Given the description of an element on the screen output the (x, y) to click on. 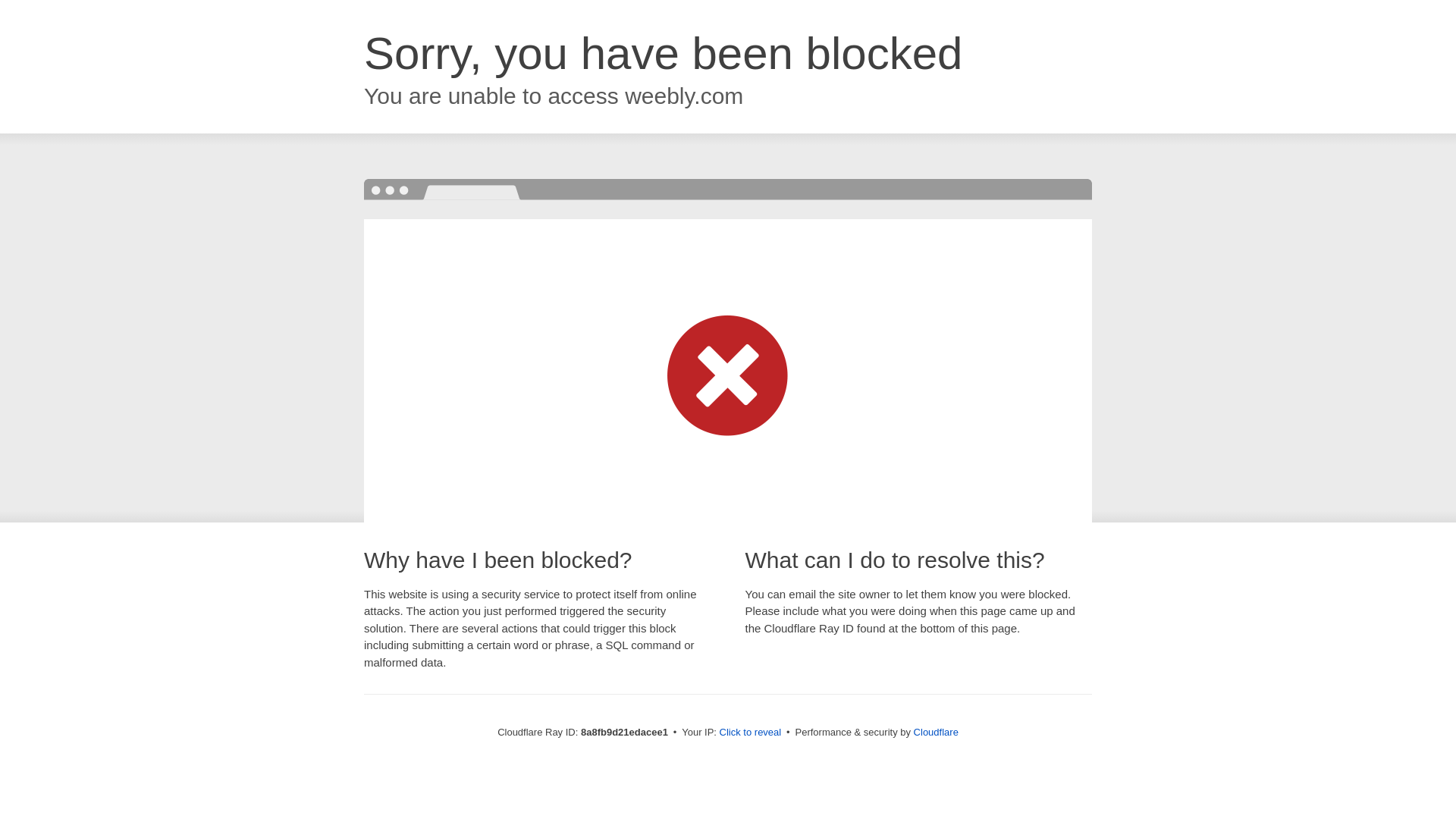
Click to reveal (750, 732)
Cloudflare (936, 731)
